Given the description of an element on the screen output the (x, y) to click on. 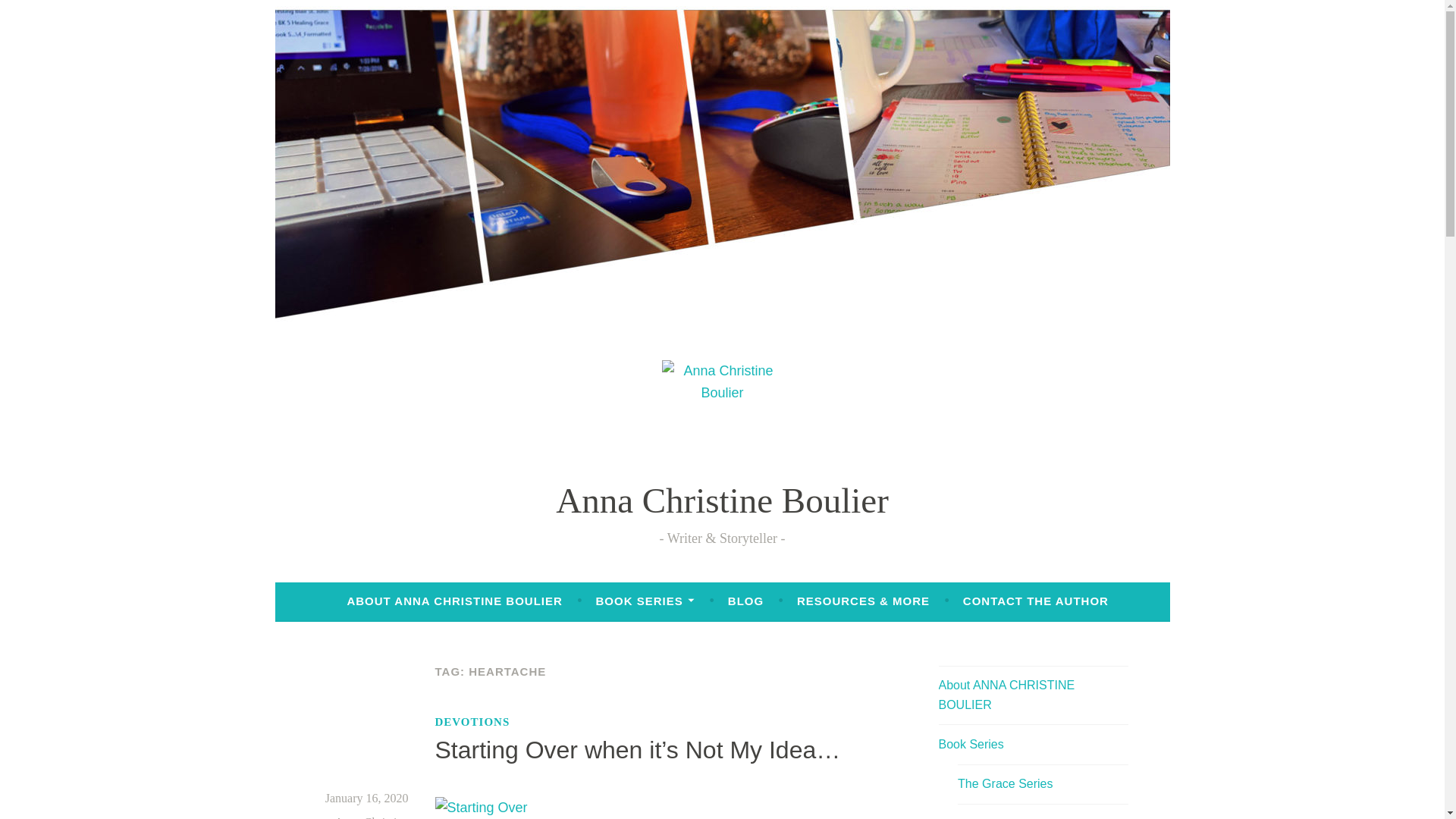
Anna Christine Boulier (722, 500)
Book Series (971, 744)
BLOG (745, 601)
BOOK SERIES (645, 601)
ABOUT ANNA CHRISTINE BOULIER (454, 601)
January 16, 2020 (366, 797)
About ANNA CHRISTINE BOULIER (1007, 694)
CONTACT THE AUTHOR (1035, 601)
The Grace Series (1005, 783)
DEVOTIONS (473, 721)
Anna Christine (370, 817)
